Given the description of an element on the screen output the (x, y) to click on. 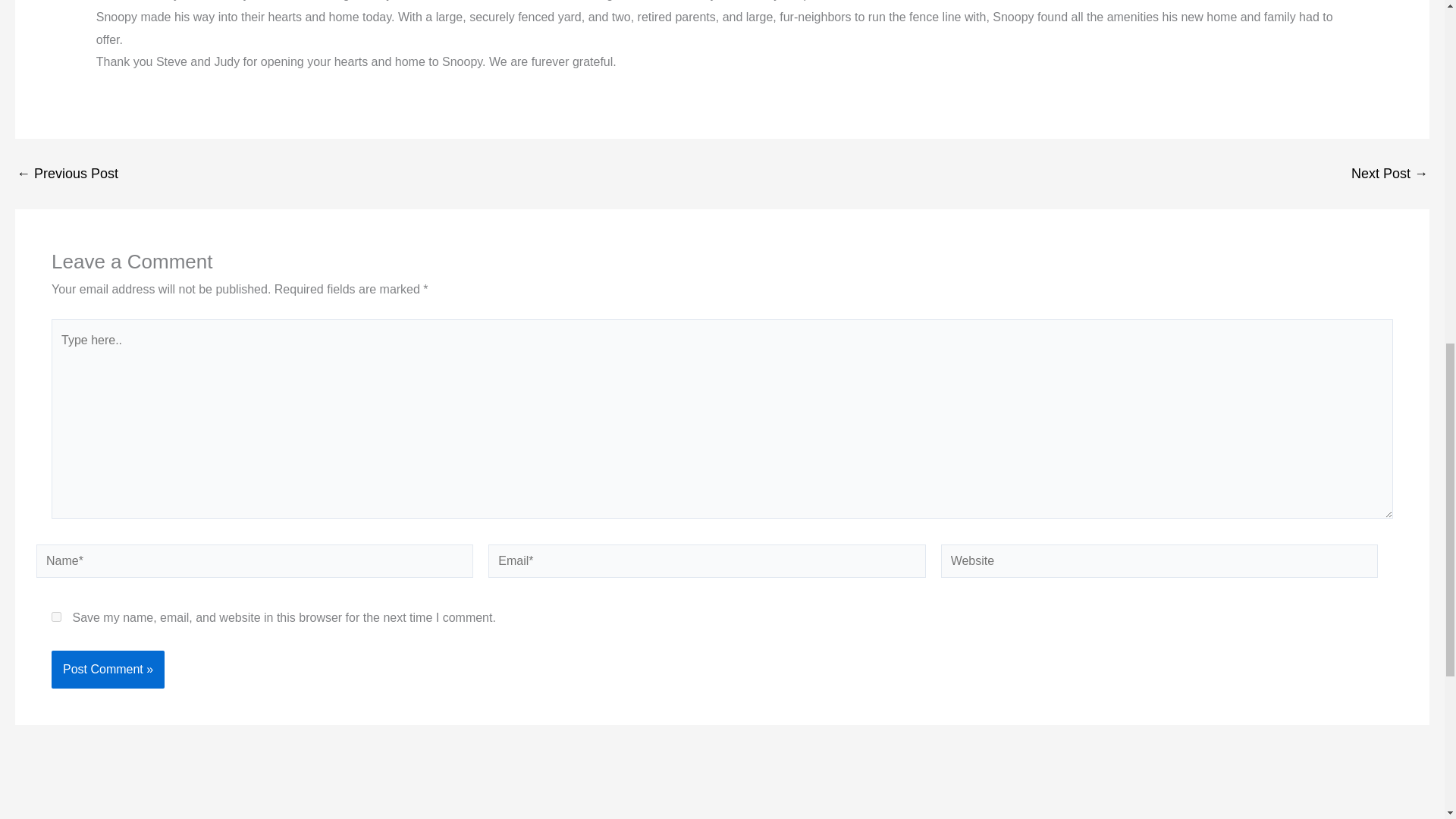
Ms Dottie Mae Finds Her Furever Home and Family in Minnesota (1389, 173)
yes (55, 616)
Archie Completes His Family... (66, 173)
